Given the description of an element on the screen output the (x, y) to click on. 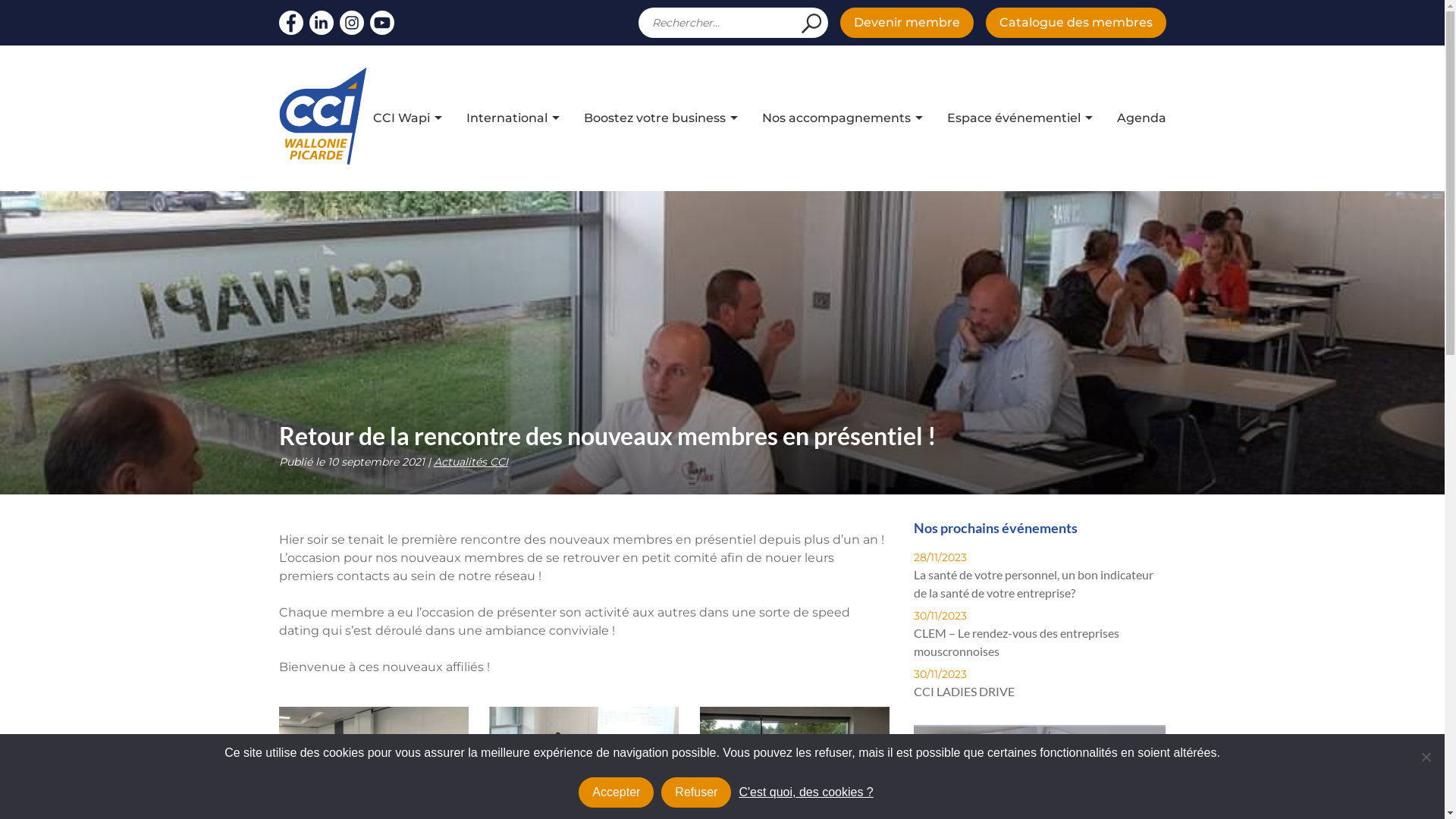
Boostez votre business Element type: text (654, 117)
C'est quoi, des cookies ? Element type: text (805, 792)
Refuser Element type: hover (1425, 756)
CCI LADIES DRIVE
30/11/2023 Element type: text (963, 683)
International Element type: text (505, 117)
Devenir membre Element type: text (906, 22)
Facebook Element type: hover (291, 22)
LinkedIn Element type: hover (321, 22)
Agenda Element type: text (1140, 117)
Catalogue des membres Element type: text (1075, 22)
Accepter Element type: text (615, 792)
CCI Wapi Element type: text (401, 117)
Nos accompagnements Element type: text (835, 117)
Refuser Element type: text (696, 792)
Instagram Element type: hover (351, 22)
Youtube Element type: hover (382, 22)
